Given the description of an element on the screen output the (x, y) to click on. 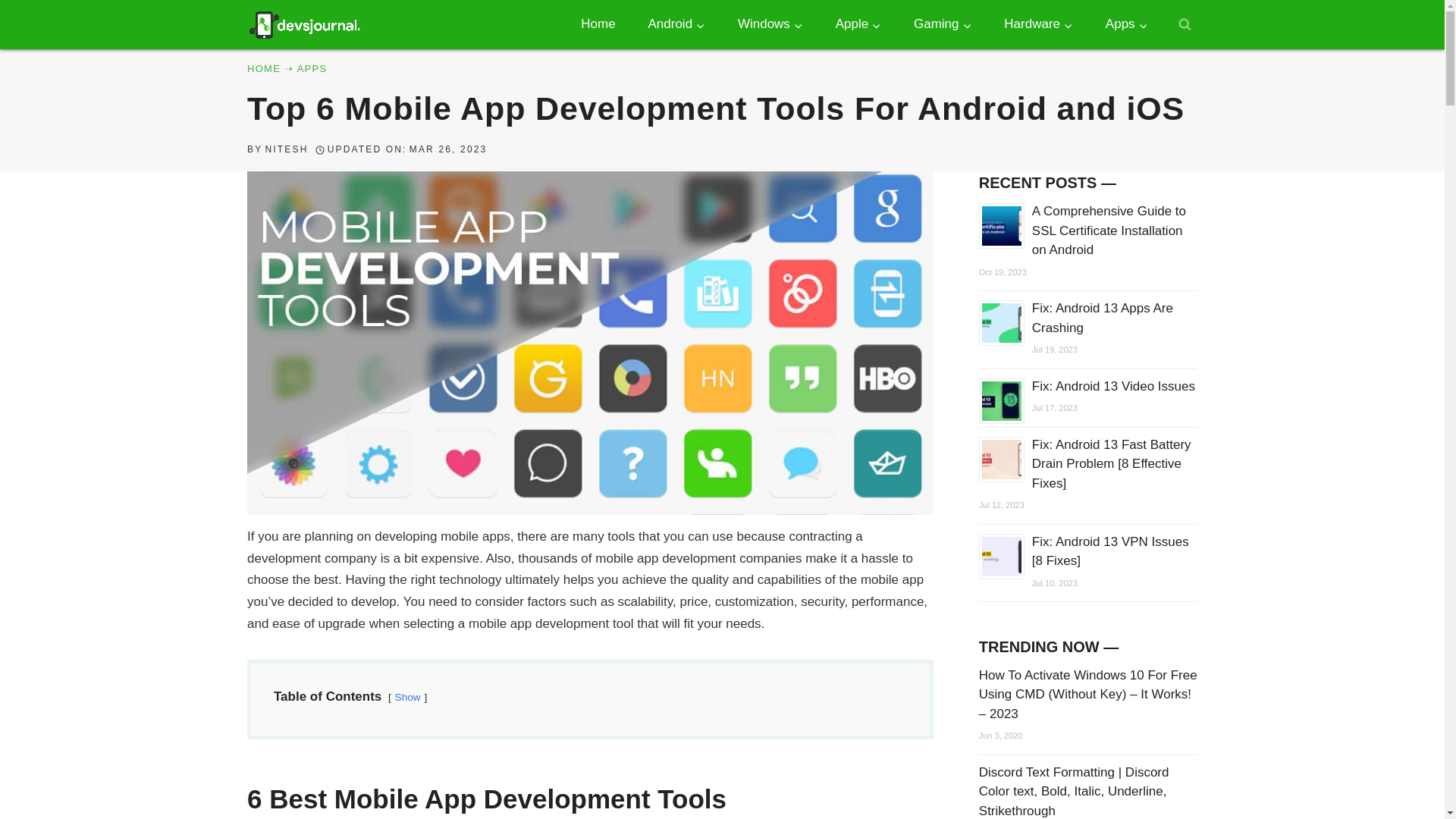
Windows (770, 24)
Android (675, 24)
Home (597, 24)
Gaming (943, 24)
Apple (857, 24)
